Given the description of an element on the screen output the (x, y) to click on. 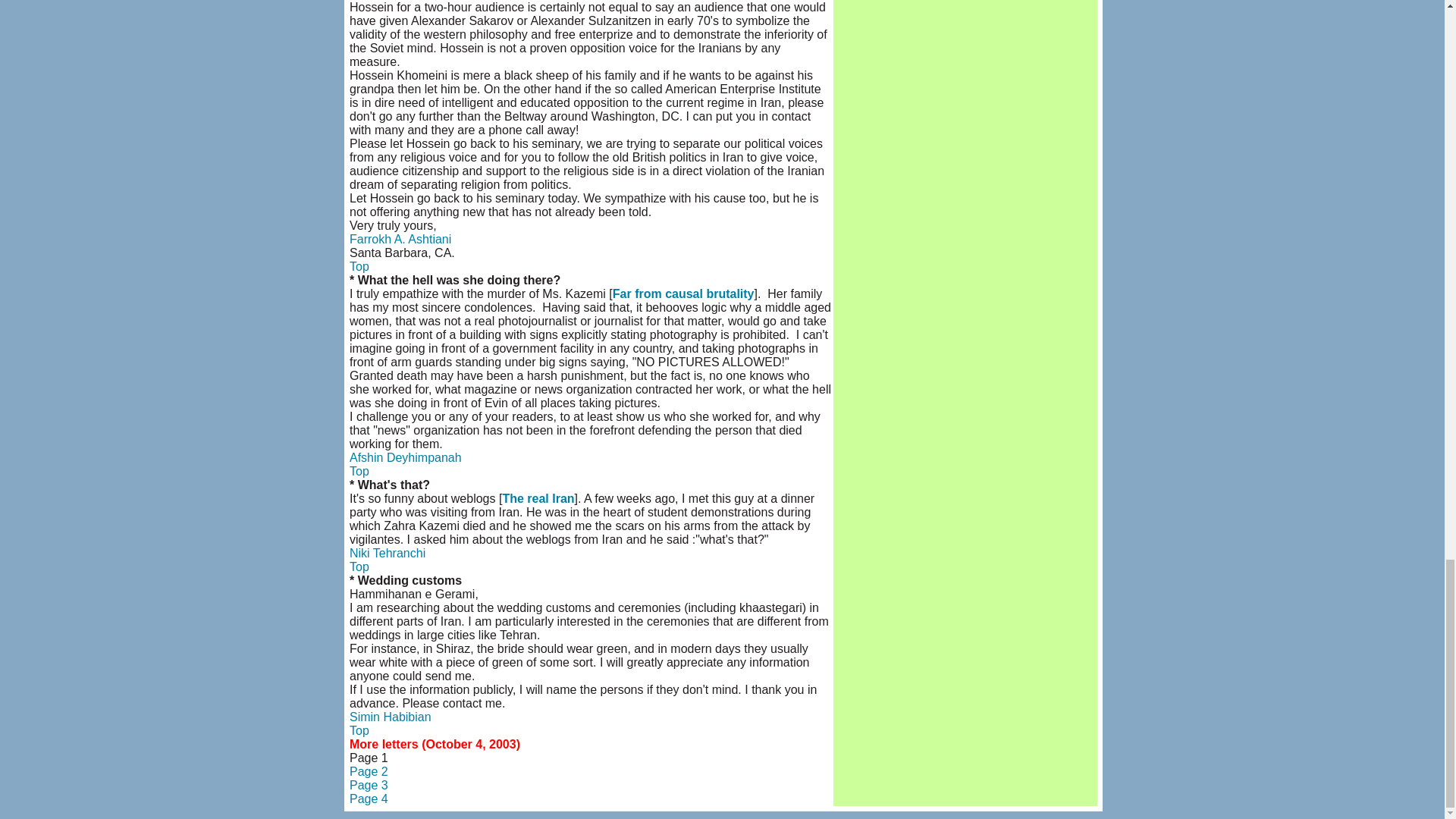
Farrokh A. Ashtiani (400, 238)
